Given the description of an element on the screen output the (x, y) to click on. 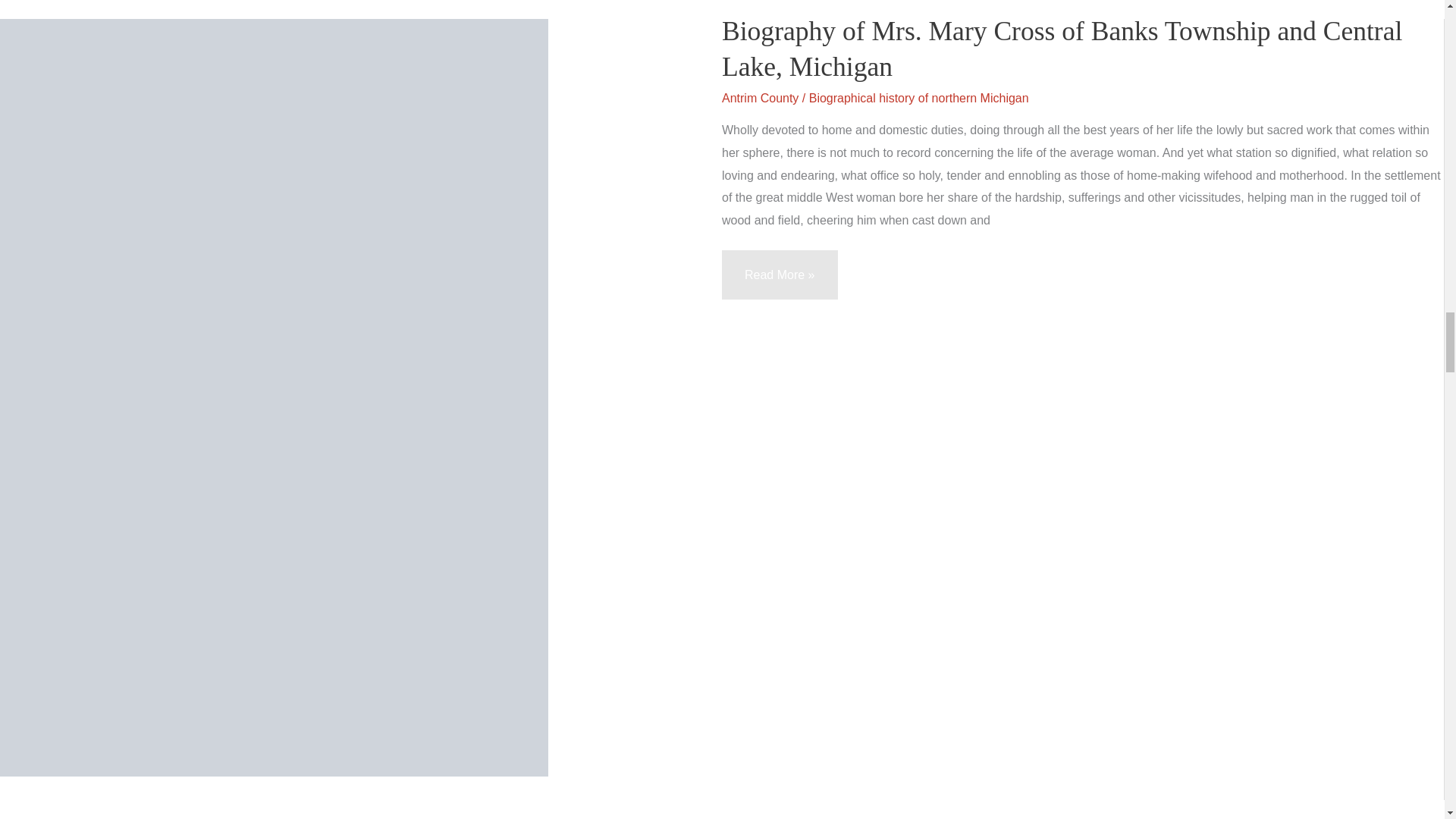
Antrim County (759, 97)
Biographical history of northern Michigan (919, 97)
